Given the description of an element on the screen output the (x, y) to click on. 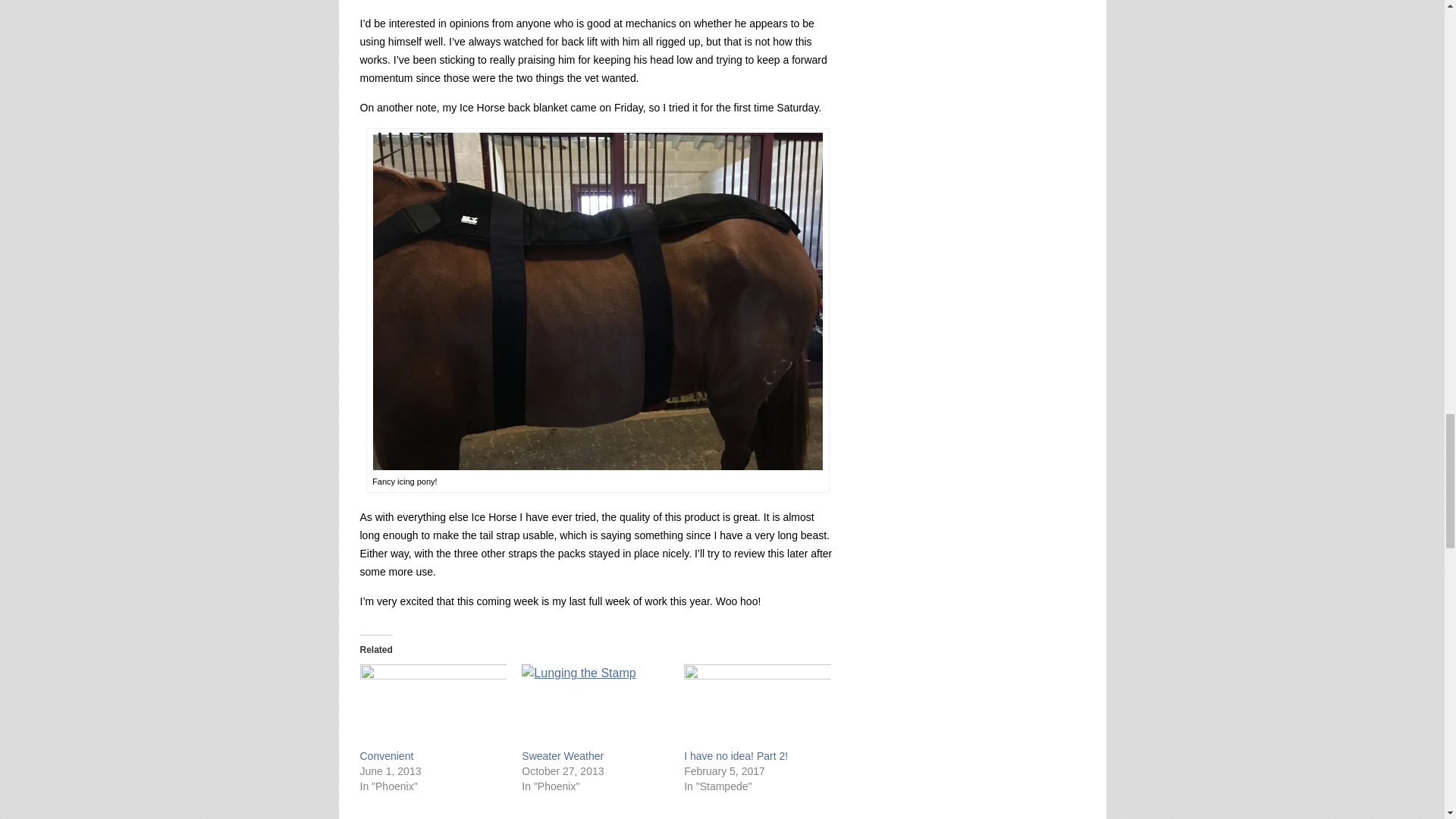
I have no idea! Part 2! (735, 756)
Sweater Weather (562, 756)
Sweater Weather (562, 756)
Sweater Weather (594, 706)
Convenient (432, 706)
Convenient (386, 756)
I have no idea! Part 2! (757, 706)
I have no idea! Part 2! (735, 756)
Convenient (386, 756)
